Given the description of an element on the screen output the (x, y) to click on. 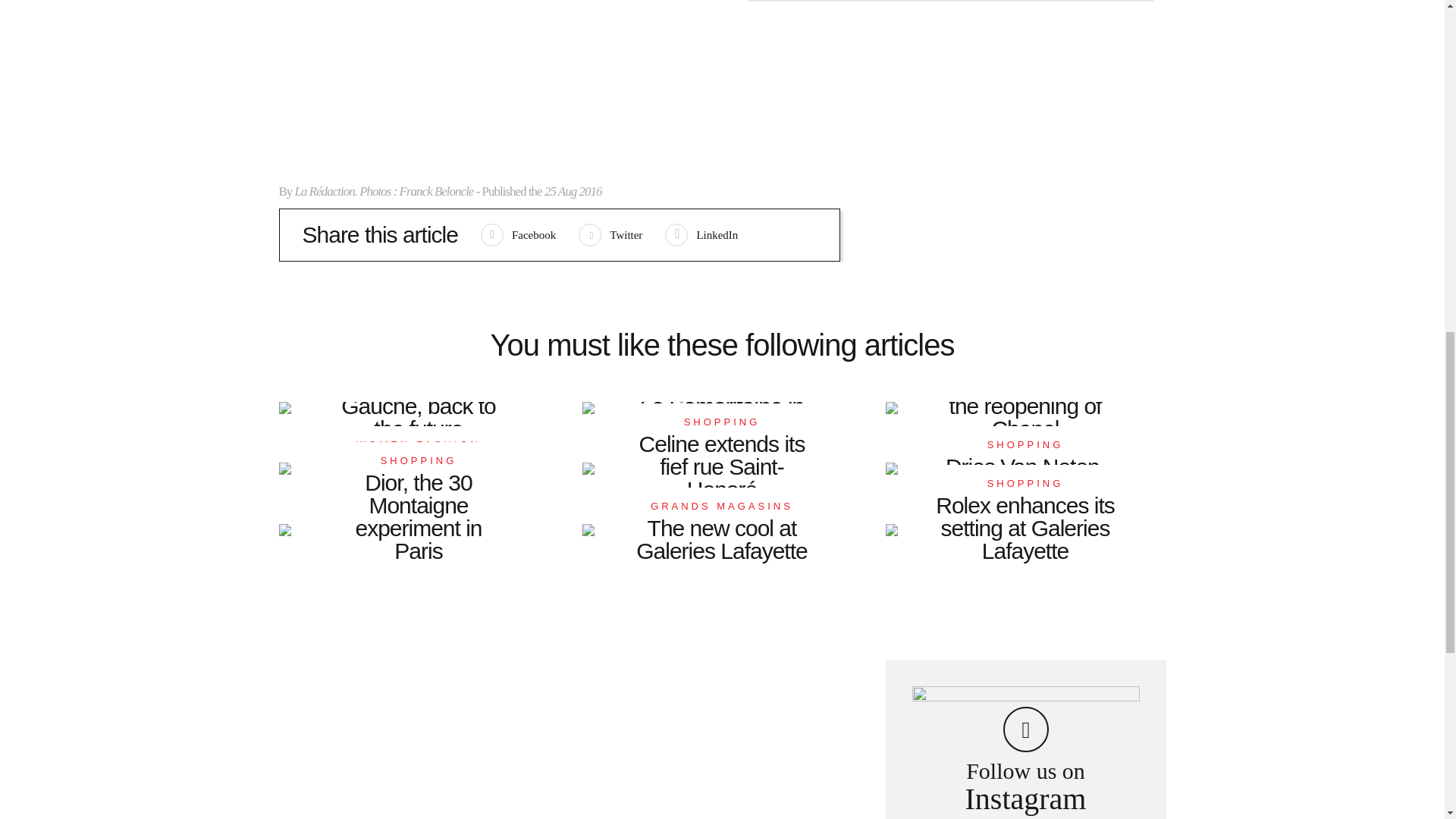
Twitter (610, 233)
Facebook (518, 233)
La Samaritaine in odors of holiness (721, 416)
Ultimate chic for the reopening of Chanel (418, 476)
LinkedIn (1025, 404)
25 Aug 2016 (701, 233)
